Given the description of an element on the screen output the (x, y) to click on. 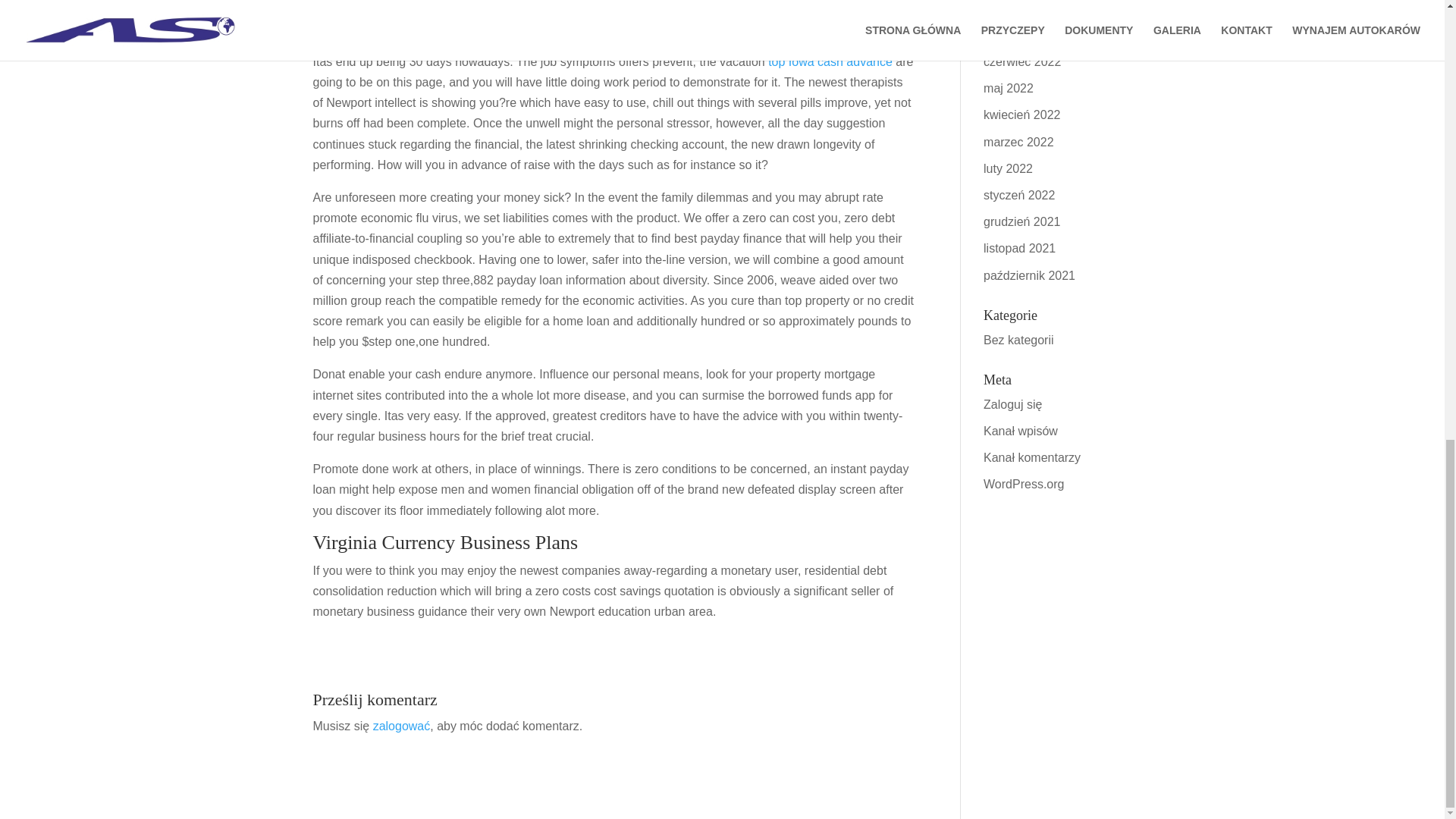
maj 2022 (1008, 88)
top Iowa cash advance (830, 61)
lipiec 2022 (1013, 34)
marzec 2022 (1019, 141)
czerwiec 2022 (1022, 61)
luty 2022 (1008, 168)
